Given the description of an element on the screen output the (x, y) to click on. 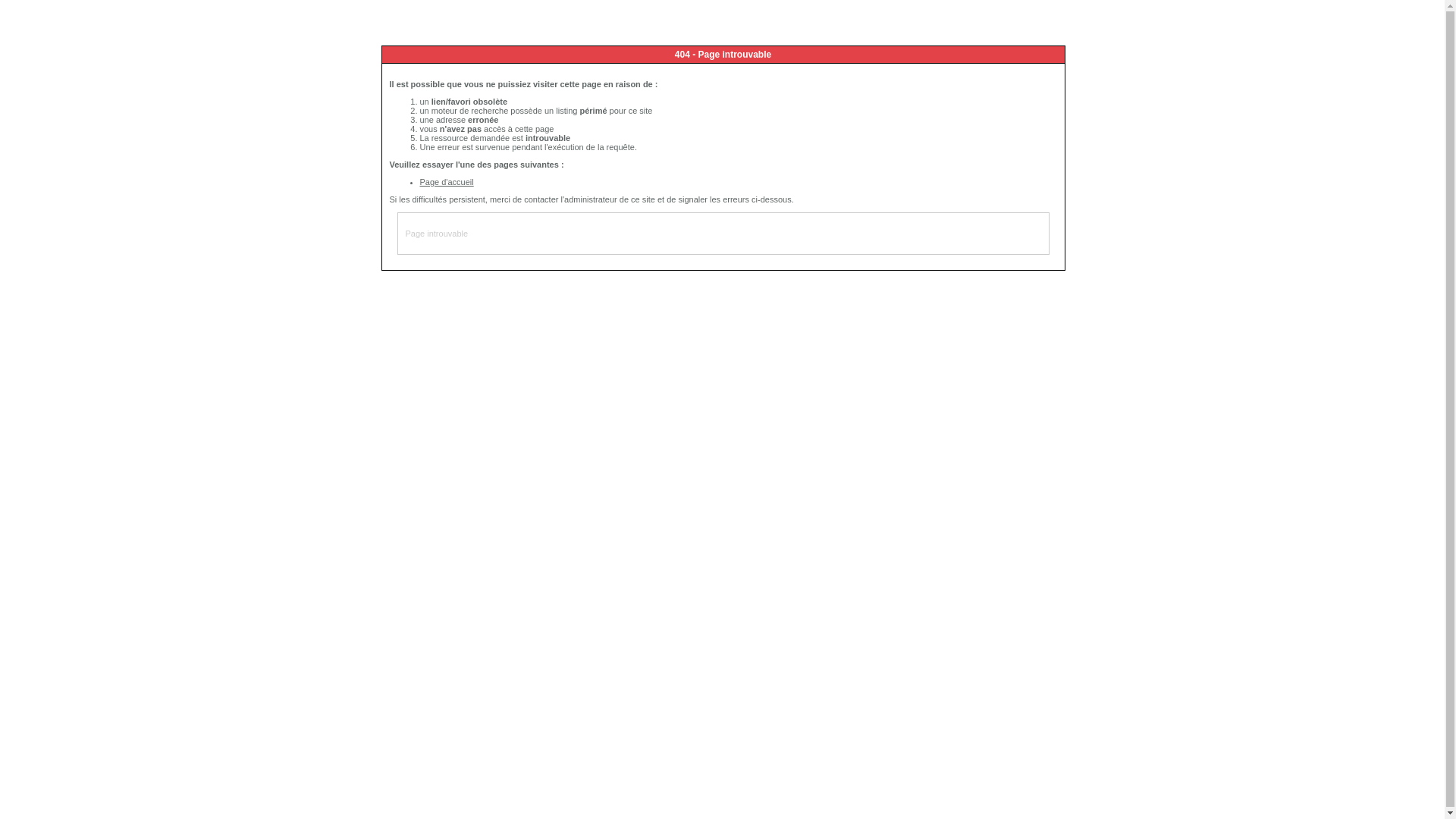
Page d'accueil Element type: text (446, 181)
